Given the description of an element on the screen output the (x, y) to click on. 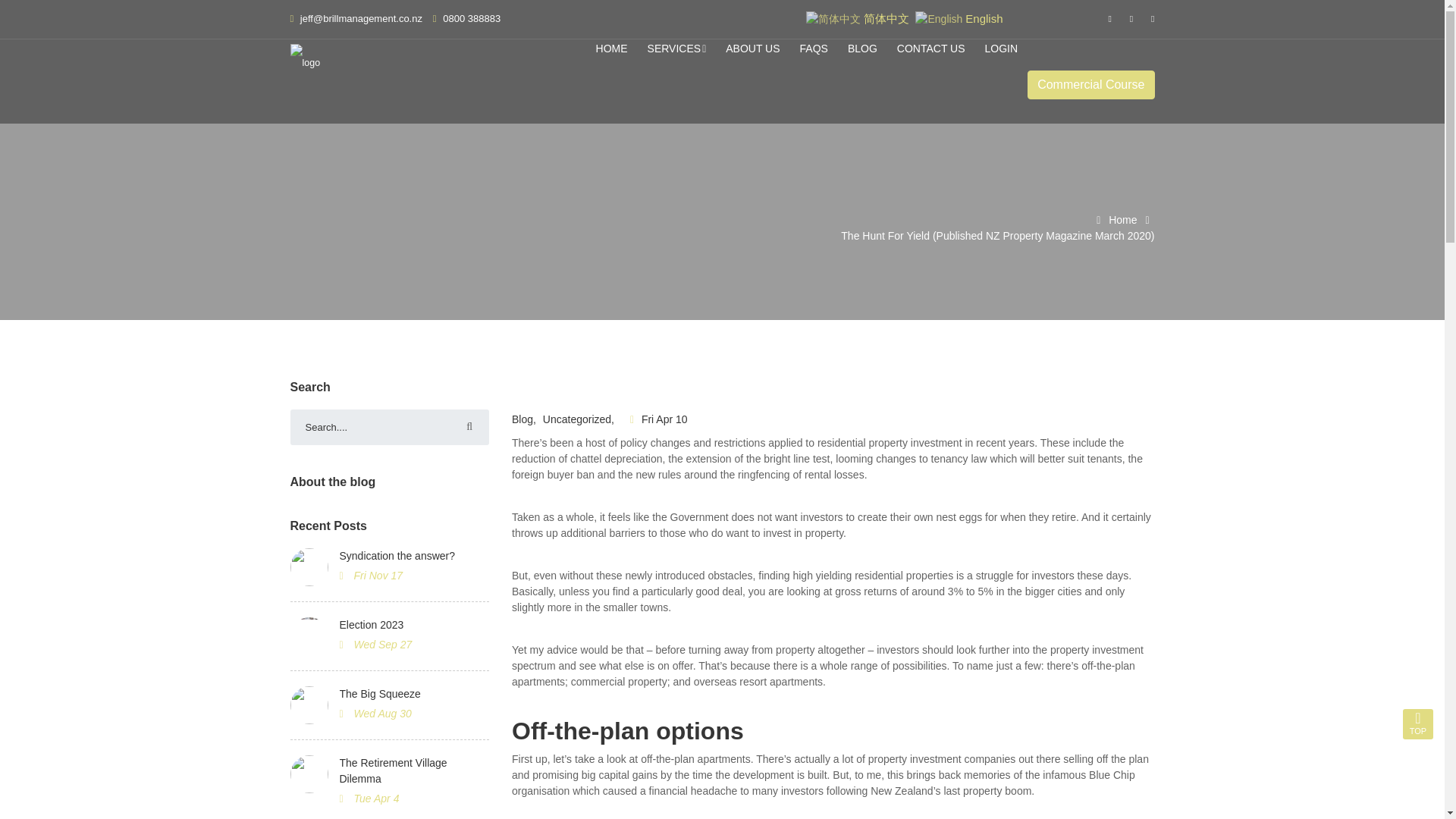
Blog, (526, 419)
Home (1113, 219)
BLOG (862, 48)
CONTACT US (930, 48)
Commercial Course (1090, 84)
Election 2023 (414, 625)
FAQS (814, 48)
Fri Apr 10 (660, 419)
Syndication the answer? (414, 555)
0800 388883 (471, 18)
